Given the description of an element on the screen output the (x, y) to click on. 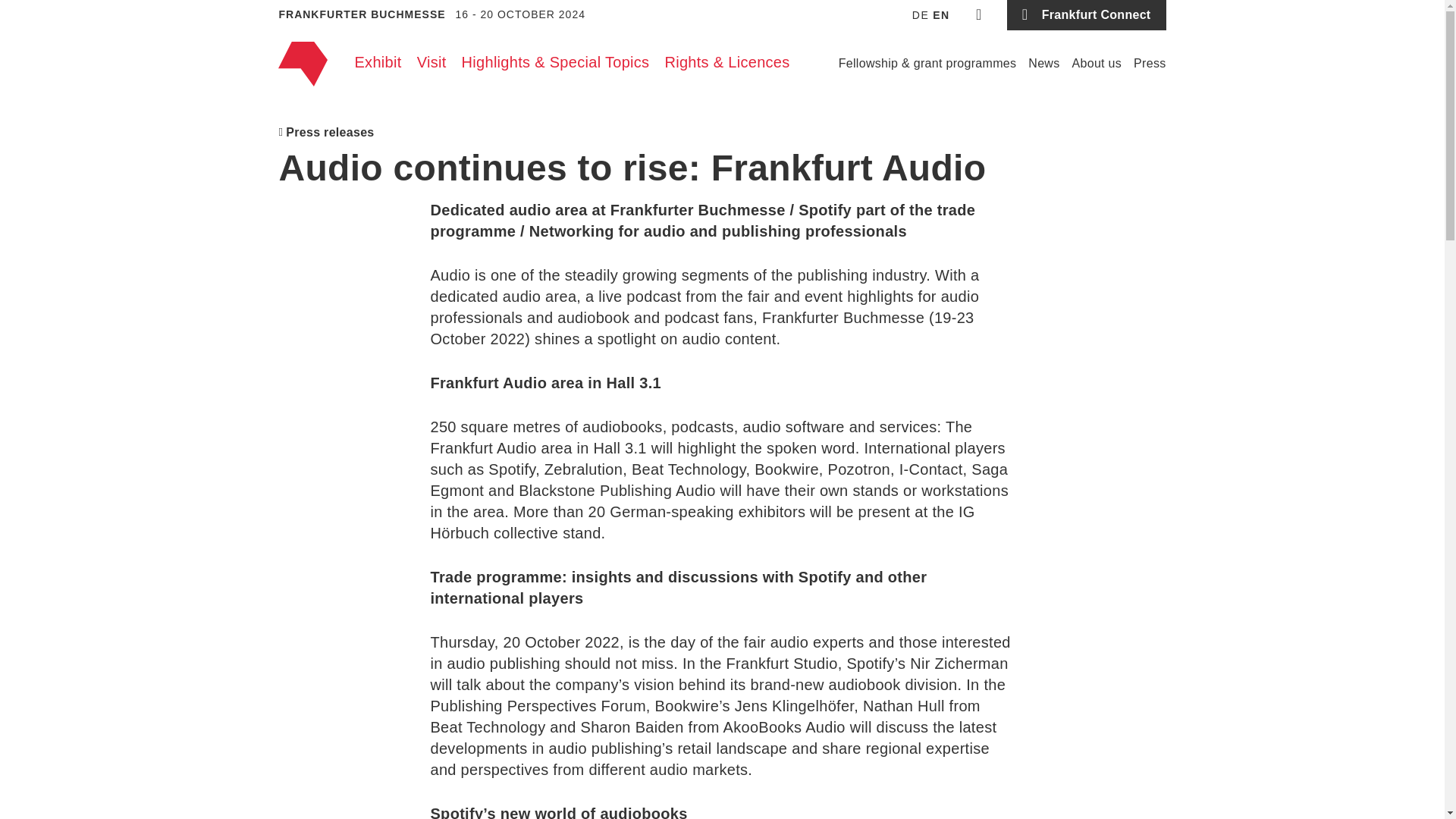
DE (920, 14)
Exhibit (377, 62)
Skip to main content (721, 5)
Visit (431, 62)
About us (1096, 63)
Buchmesse (302, 63)
Press (1150, 63)
Frankfurt Connect (1086, 15)
EN (941, 14)
News (1043, 63)
